Given the description of an element on the screen output the (x, y) to click on. 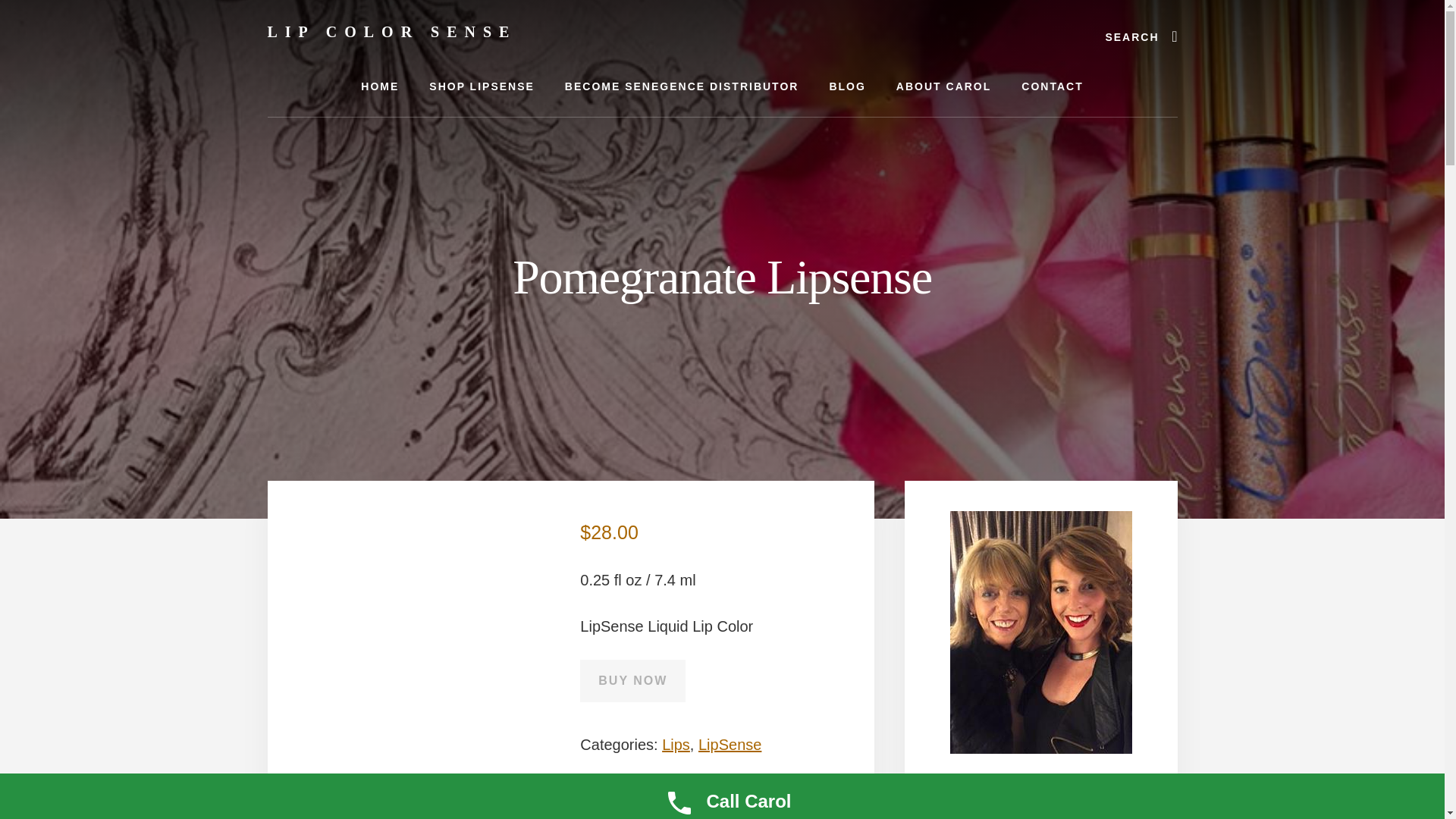
LipSense (729, 744)
HOME (379, 86)
Lips (676, 744)
BLOG (846, 86)
BUY NOW (632, 680)
ABOUT CAROL (943, 86)
Description (395, 803)
